Given the description of an element on the screen output the (x, y) to click on. 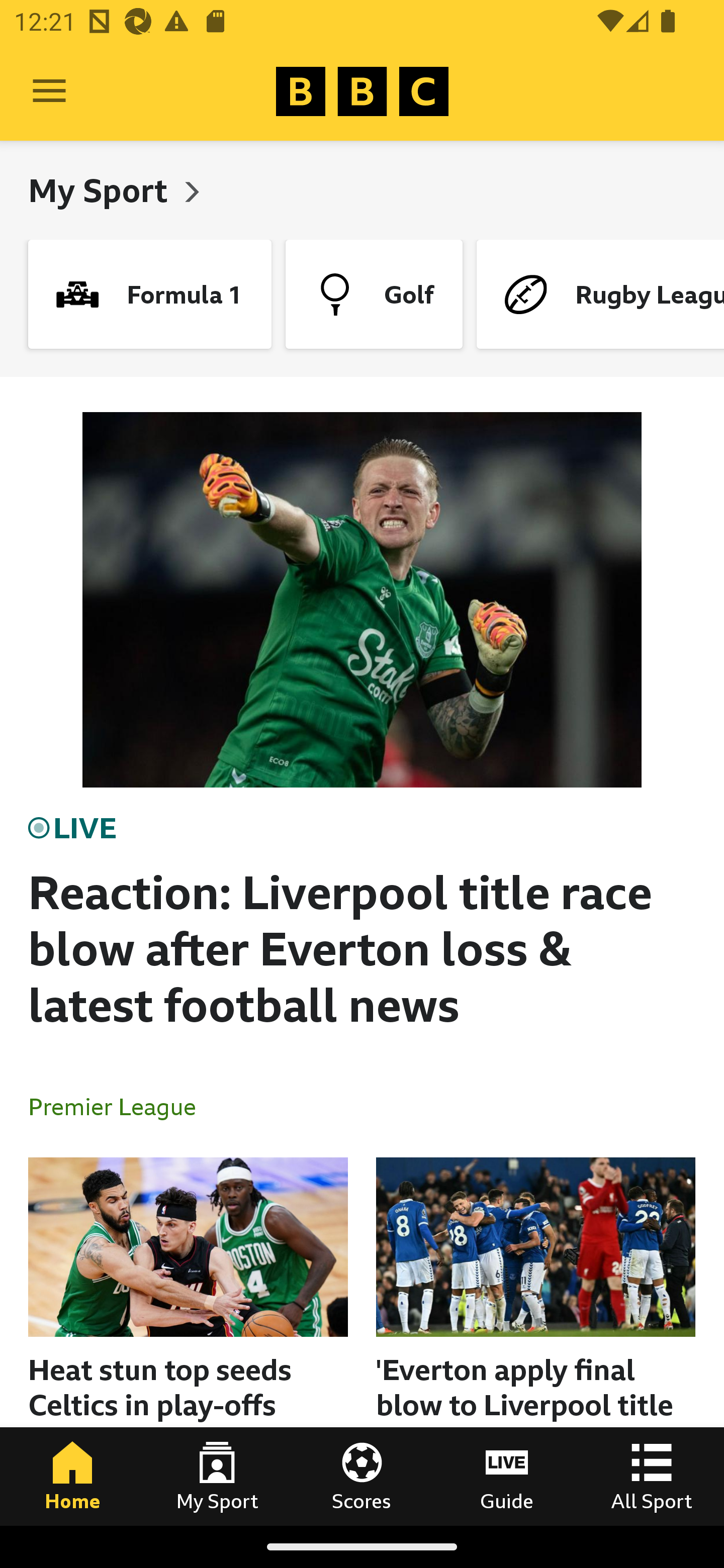
Open Menu (49, 91)
My Sport (101, 190)
Premier League In the section Premier League (119, 1106)
My Sport (216, 1475)
Scores (361, 1475)
Guide (506, 1475)
All Sport (651, 1475)
